Given the description of an element on the screen output the (x, y) to click on. 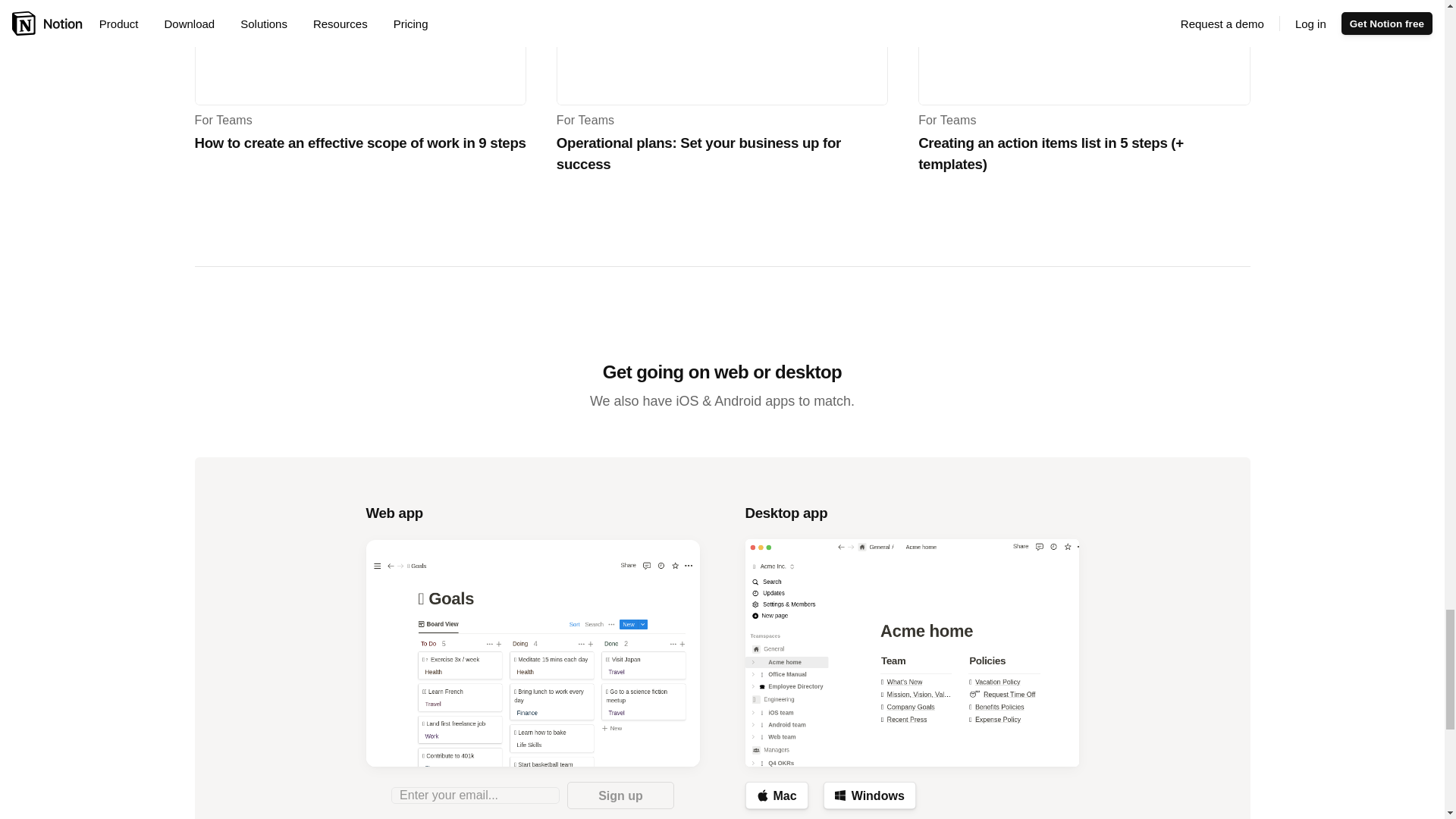
How to create an effective scope of work in 9 steps (359, 53)
Operational plans: Set your business up for success (722, 53)
